Given the description of an element on the screen output the (x, y) to click on. 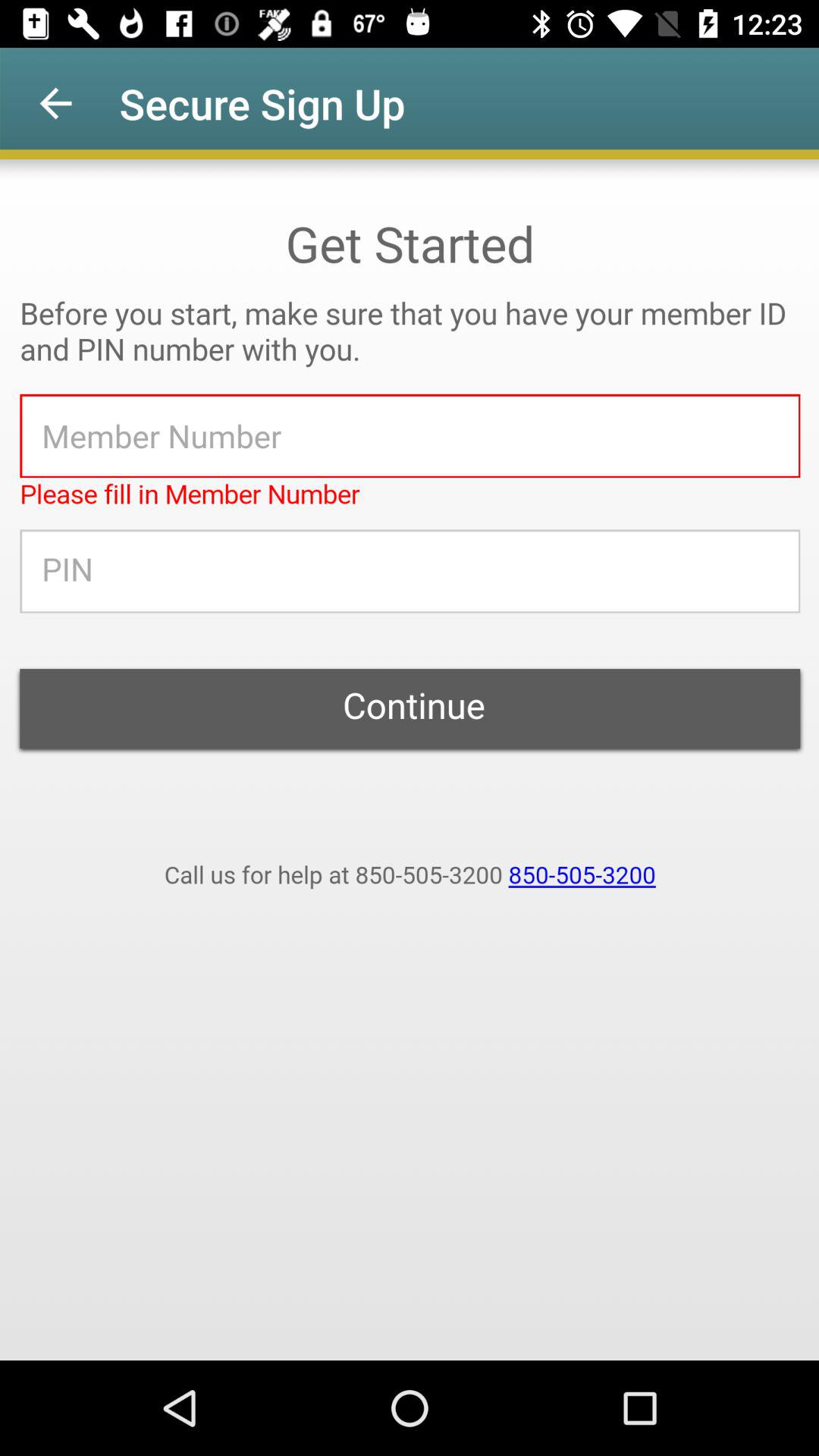
secure sign up page (409, 759)
